Given the description of an element on the screen output the (x, y) to click on. 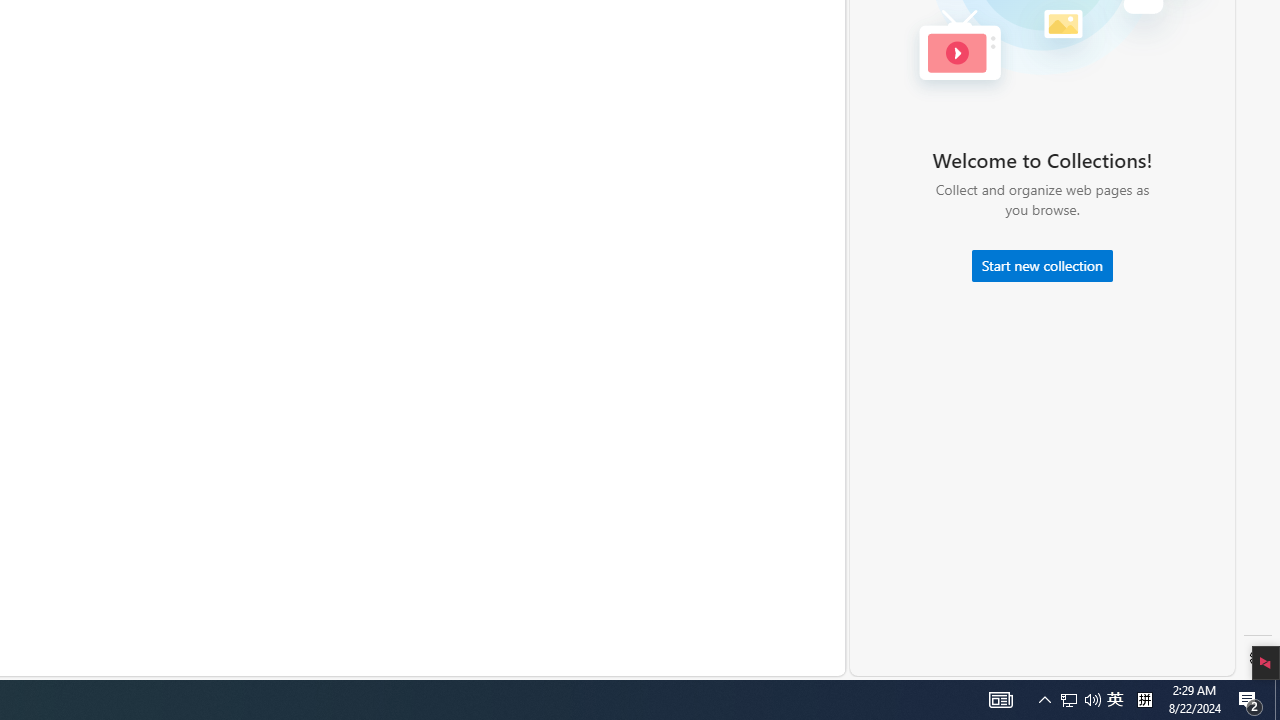
Start new collection (1042, 265)
